Given the description of an element on the screen output the (x, y) to click on. 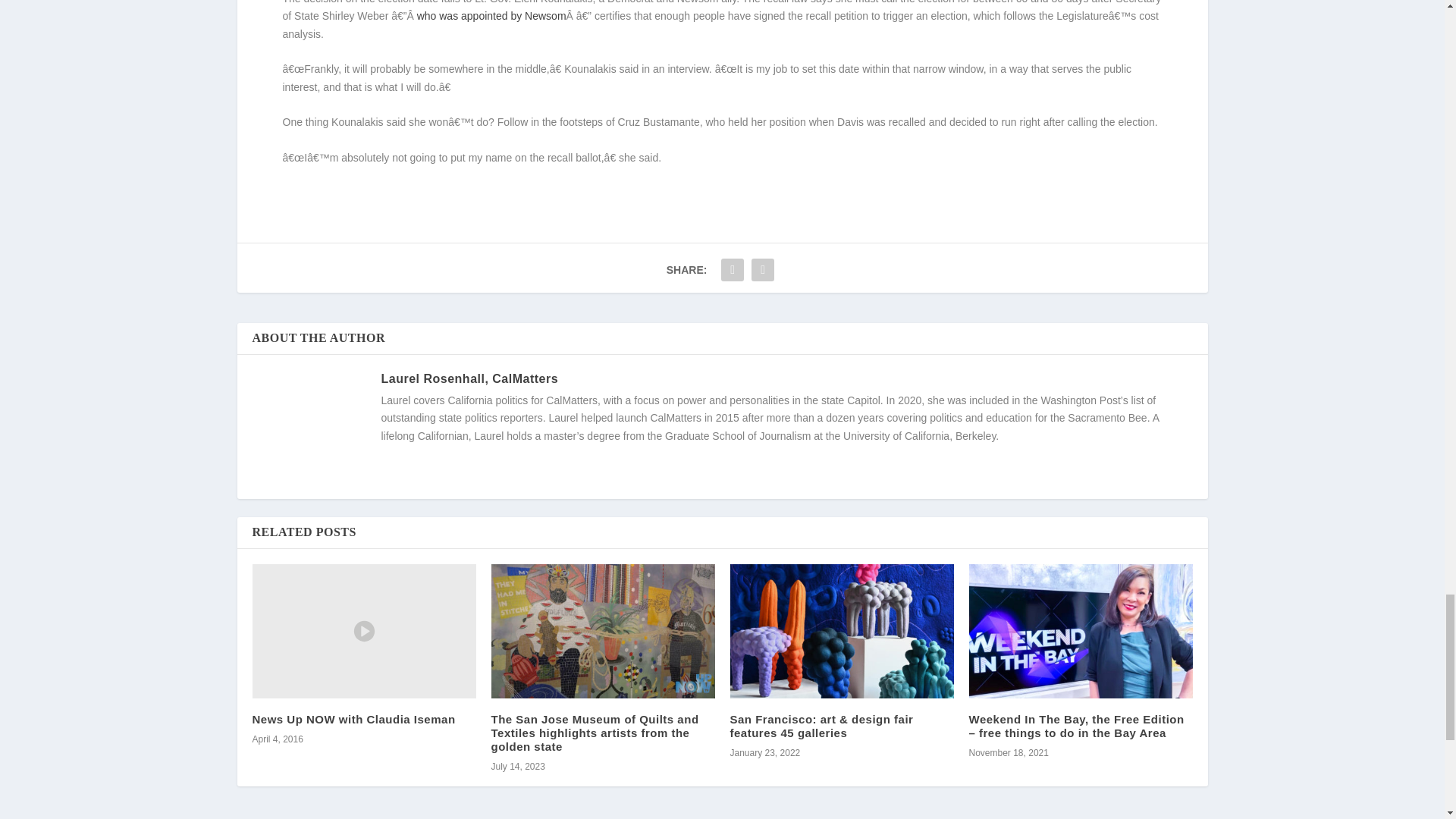
News Up NOW with Claudia Iseman (363, 631)
View all posts by Laurel Rosenhall, CalMatters (468, 378)
